Given the description of an element on the screen output the (x, y) to click on. 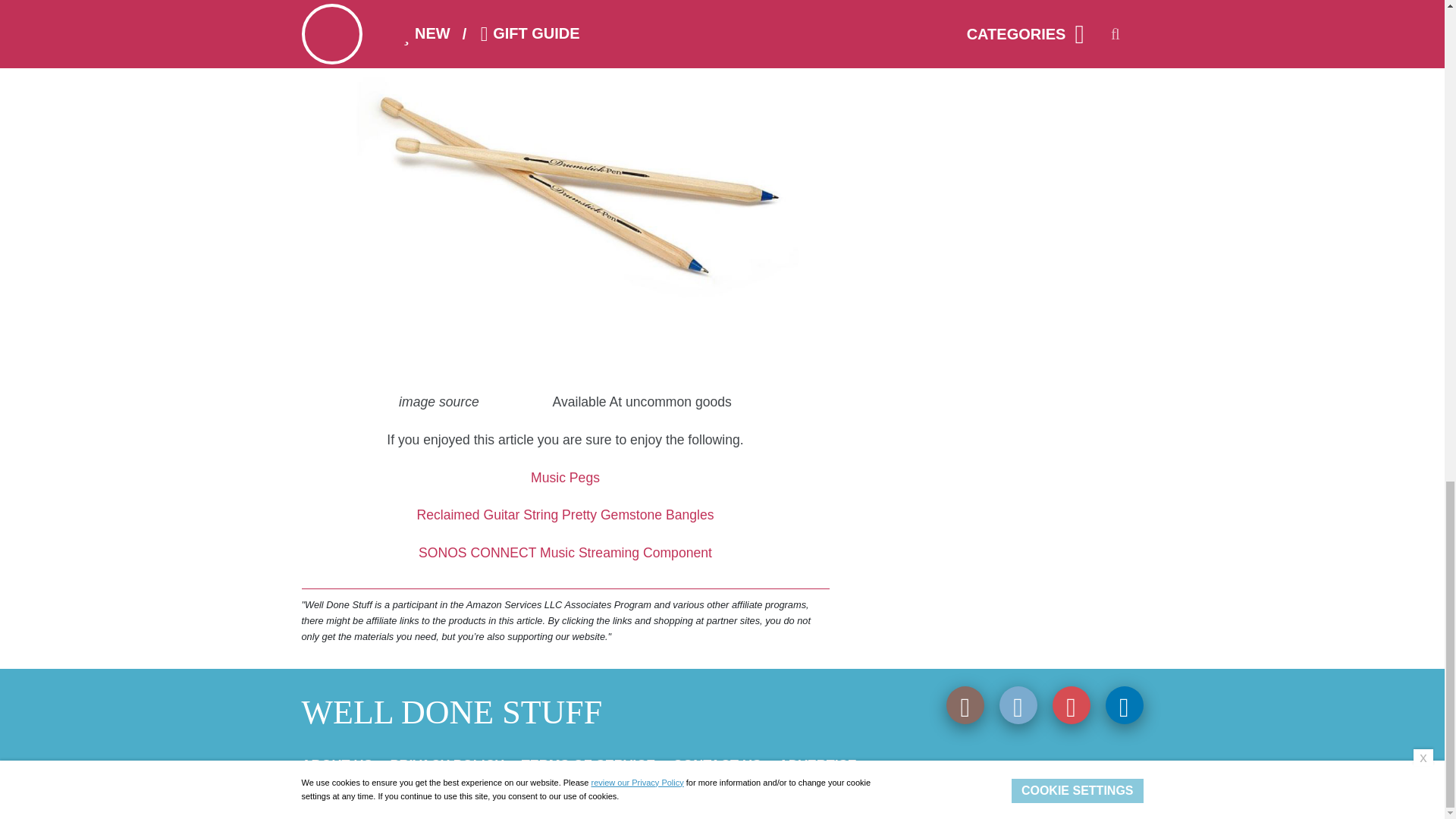
TERMS OF SERVICE (588, 765)
Music Pegs (565, 477)
Reclaimed Guitar String Pretty Gemstone Bangles (564, 514)
PRIVACY POLICY (446, 765)
SONOS CONNECT Music Streaming Component (565, 552)
WELL DONE STUFF (451, 712)
ADVERTISE (817, 765)
ABOUT US (336, 765)
CONTACT US (716, 765)
